Given the description of an element on the screen output the (x, y) to click on. 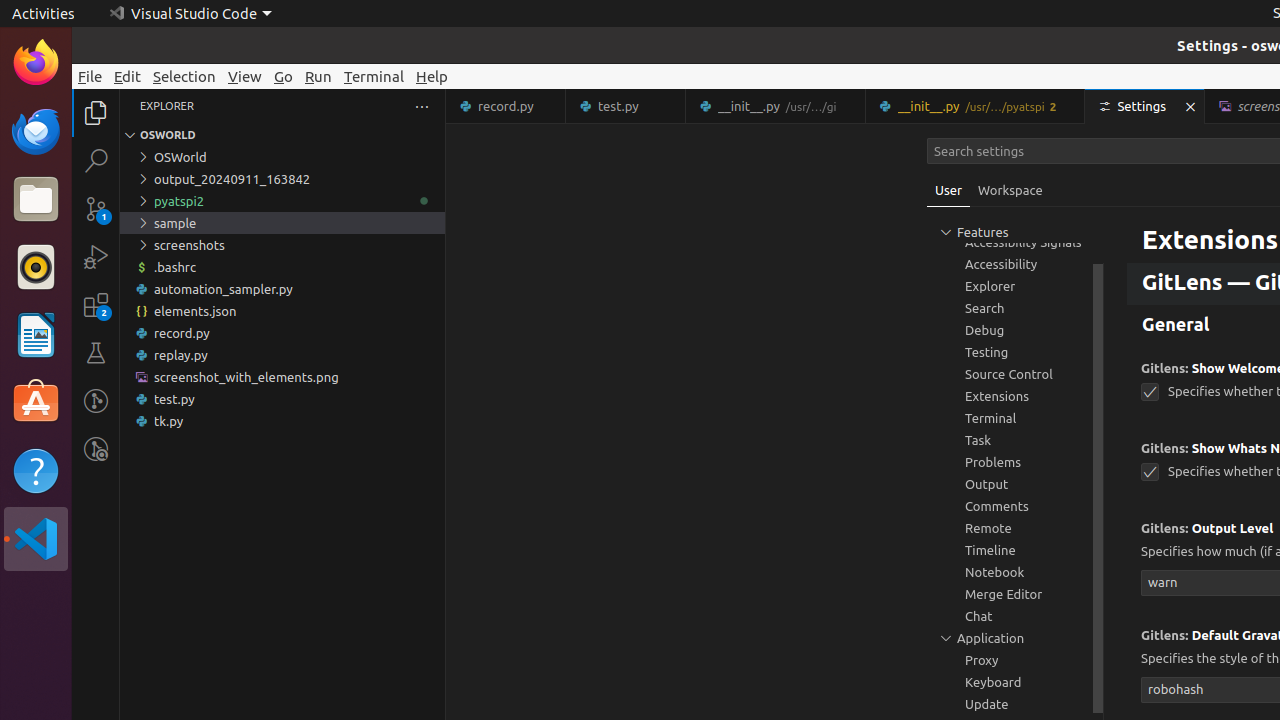
Task, group Element type: tree-item (1015, 440)
Go Element type: push-button (283, 76)
screenshots Element type: tree-item (282, 245)
Notebook, group Element type: tree-item (1015, 572)
User Element type: check-box (949, 190)
